Given the description of an element on the screen output the (x, y) to click on. 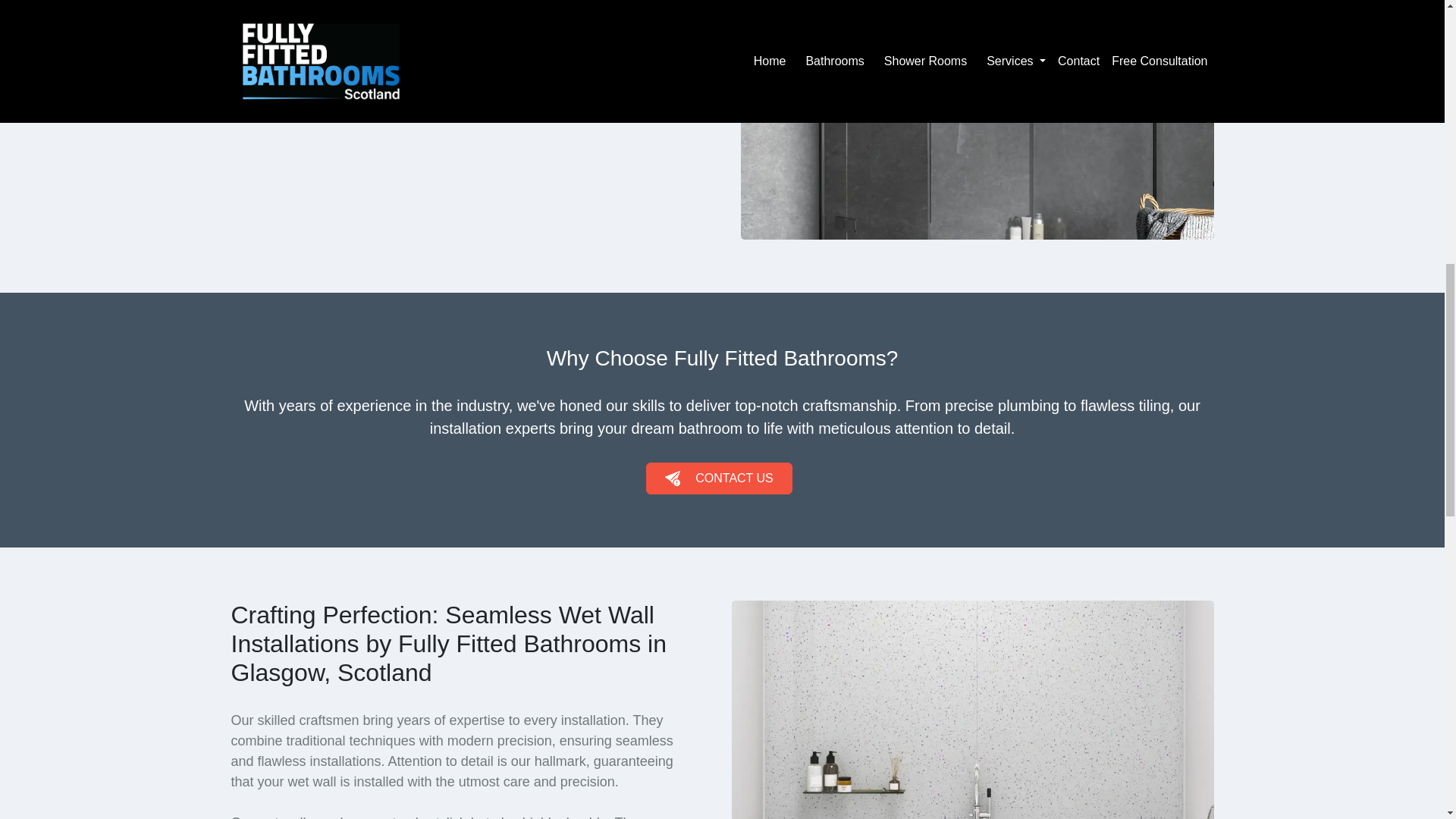
CONTACT US (719, 478)
